Given the description of an element on the screen output the (x, y) to click on. 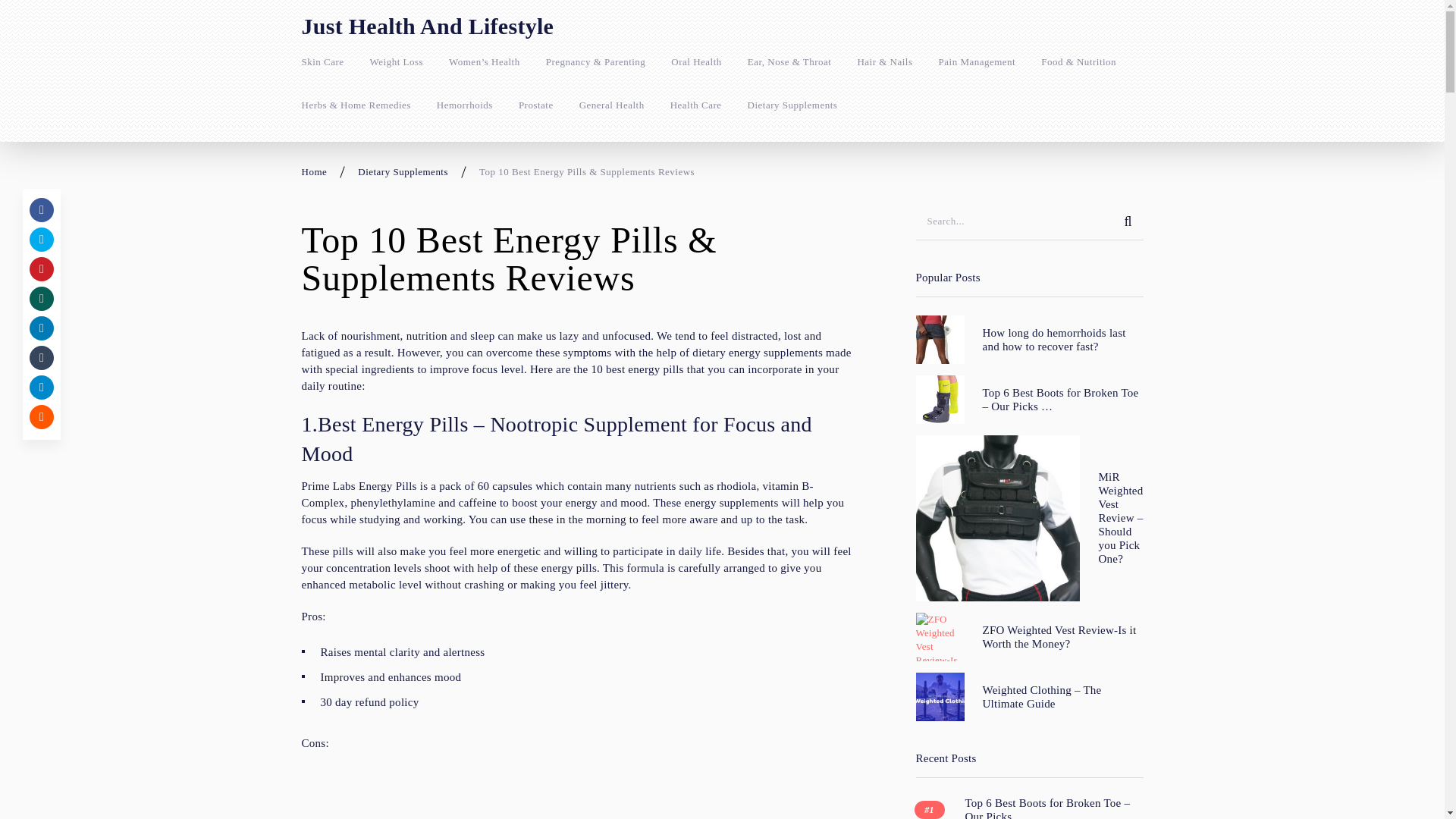
Hemorrhoids (464, 105)
Dietary Supplements (403, 171)
Skin Care (322, 62)
Health Care (695, 105)
Oral Health (695, 62)
General Health (612, 105)
Home (314, 171)
Just Health And Lifestyle (427, 26)
Advertisement (578, 792)
Dietary Supplements (793, 105)
Weight Loss (396, 62)
Prostate (535, 105)
Pain Management (977, 62)
